Given the description of an element on the screen output the (x, y) to click on. 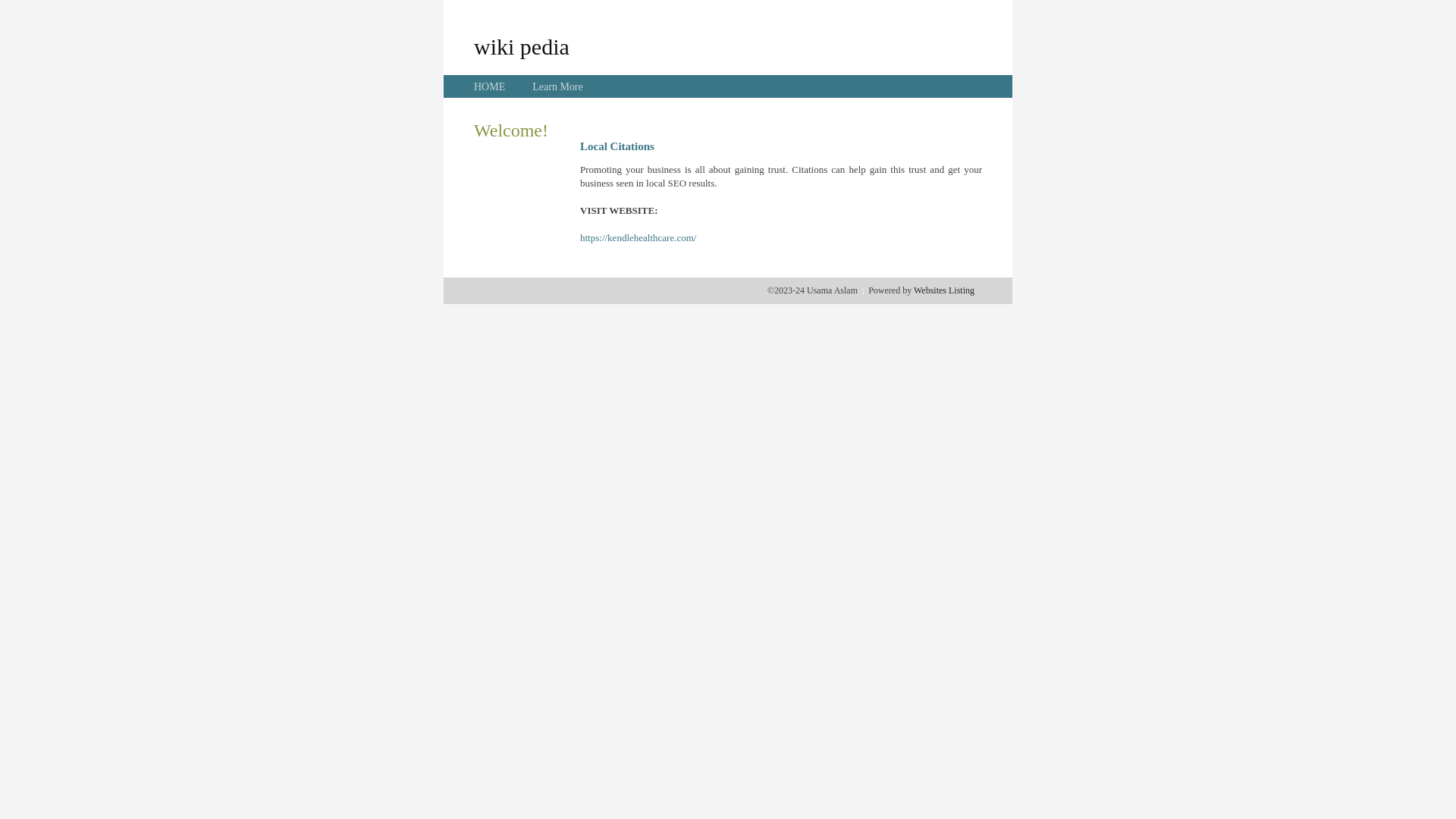
Learn More Element type: text (557, 86)
HOME Element type: text (489, 86)
https://kendlehealthcare.com/ Element type: text (638, 237)
Websites Listing Element type: text (943, 290)
wiki pedia Element type: text (521, 46)
